Given the description of an element on the screen output the (x, y) to click on. 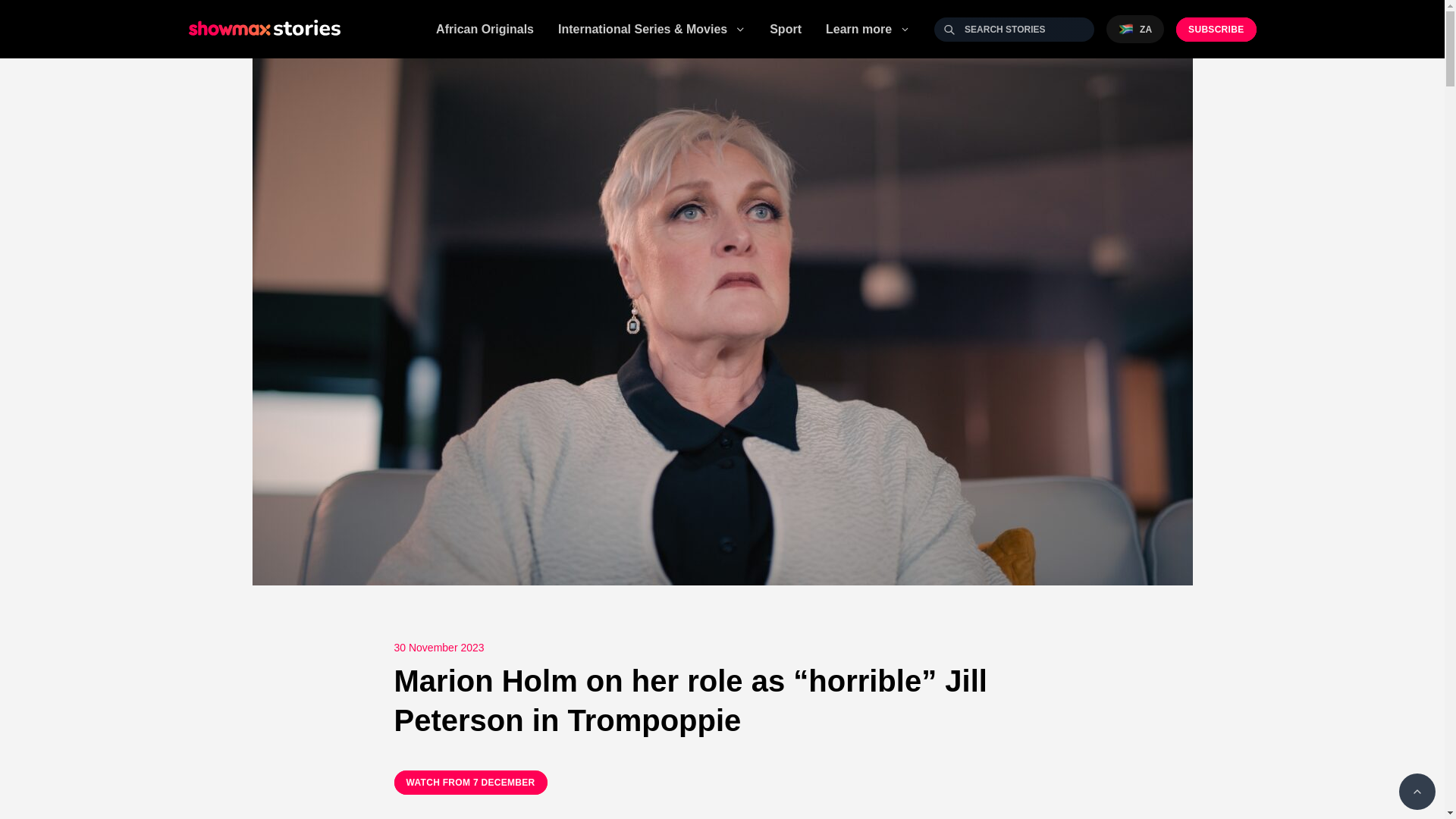
African Originals (484, 29)
ZA (1134, 29)
Sport (786, 29)
SUBSCRIBE (1215, 28)
Learn more (867, 28)
